Given the description of an element on the screen output the (x, y) to click on. 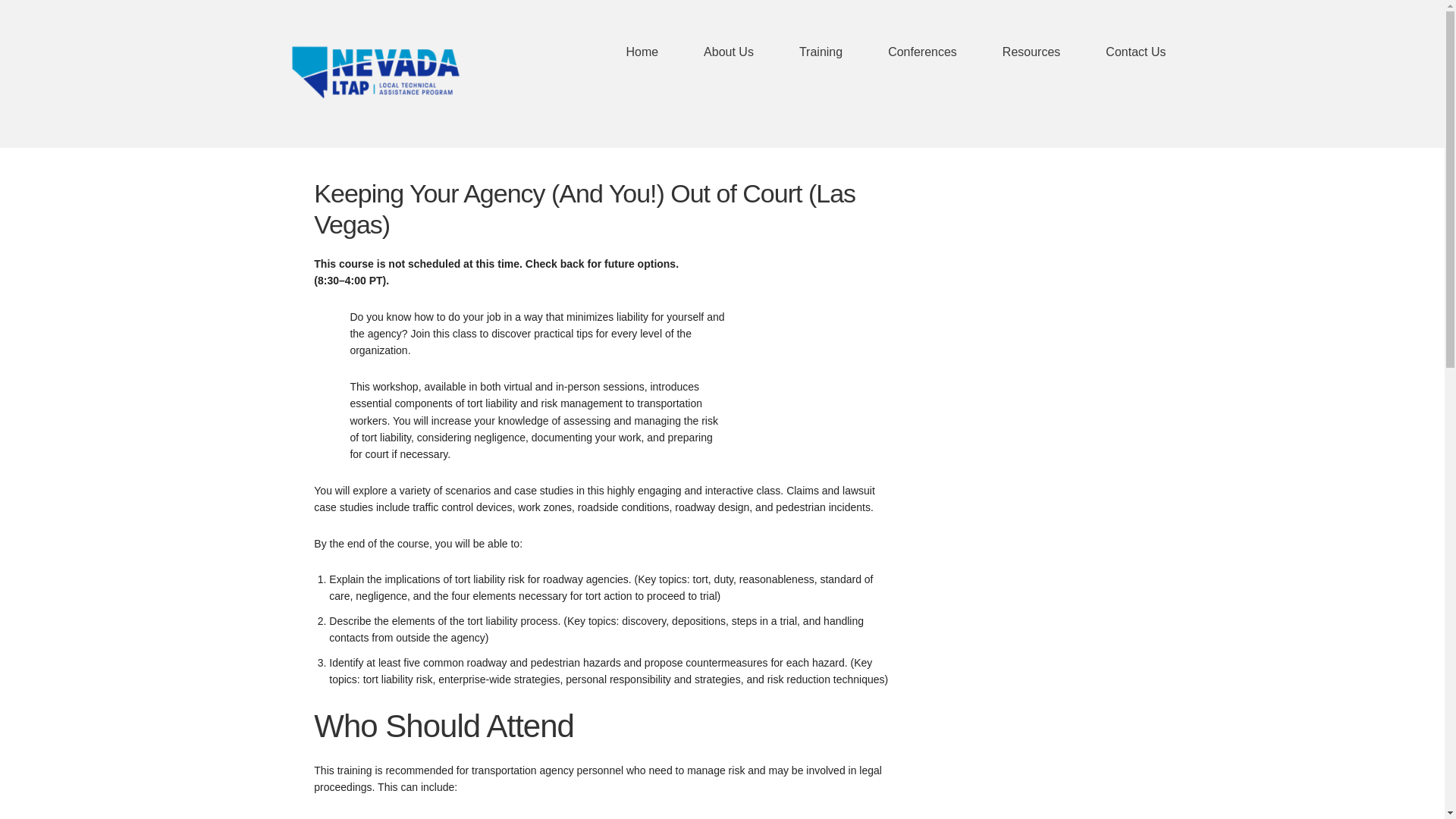
Nevada LTAP Course Catalog (377, 71)
Resources (1015, 51)
Training (805, 51)
Contact Us (1120, 51)
Home (642, 51)
About Us (713, 51)
Conferences (906, 51)
